Given the description of an element on the screen output the (x, y) to click on. 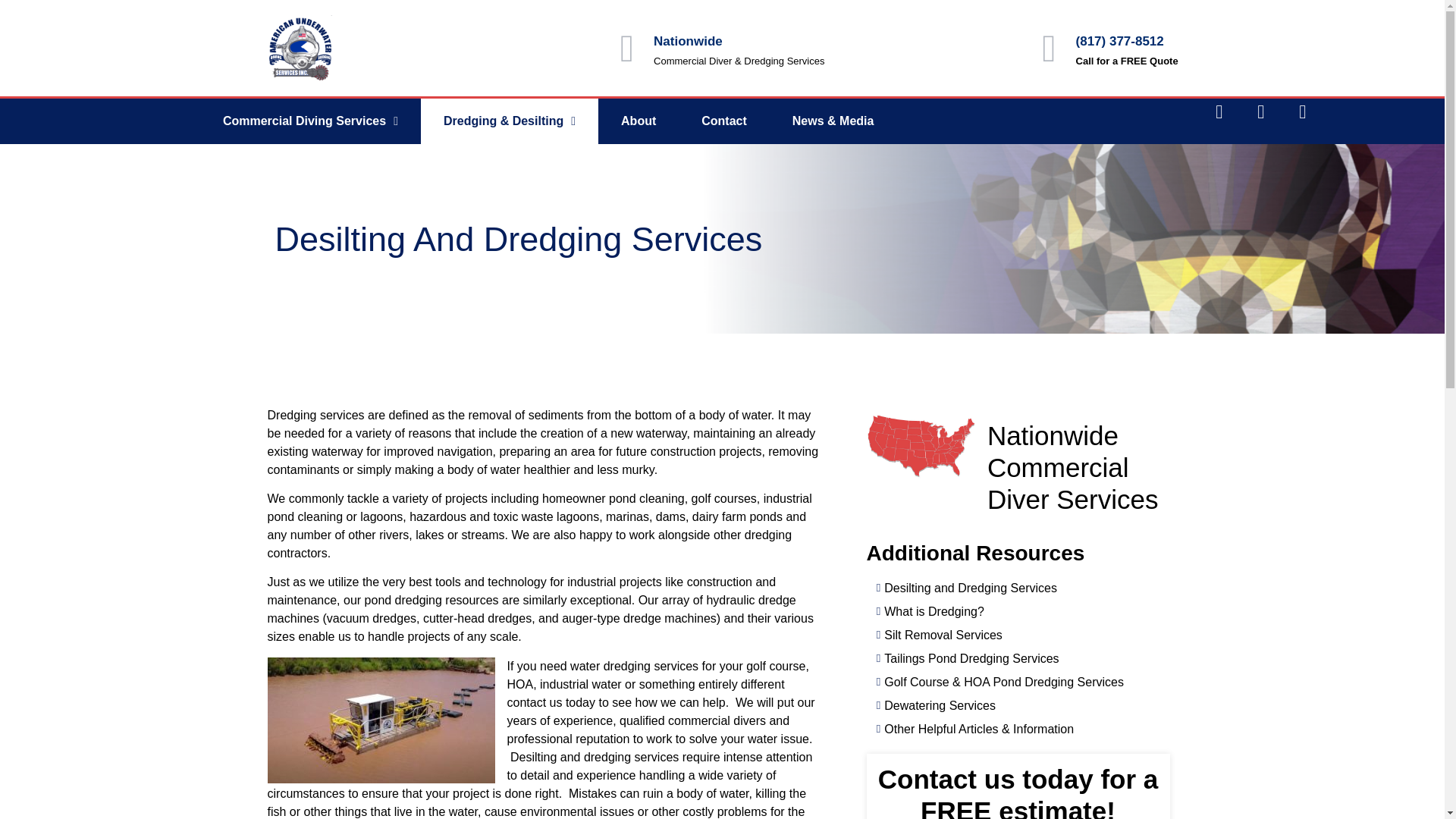
Commercial Diving Services (310, 121)
Contact (724, 121)
Contact American Underwater Services (724, 121)
About (638, 121)
Commercial Diving Services (310, 121)
About American Underwater Services Commercial (638, 121)
